Given the description of an element on the screen output the (x, y) to click on. 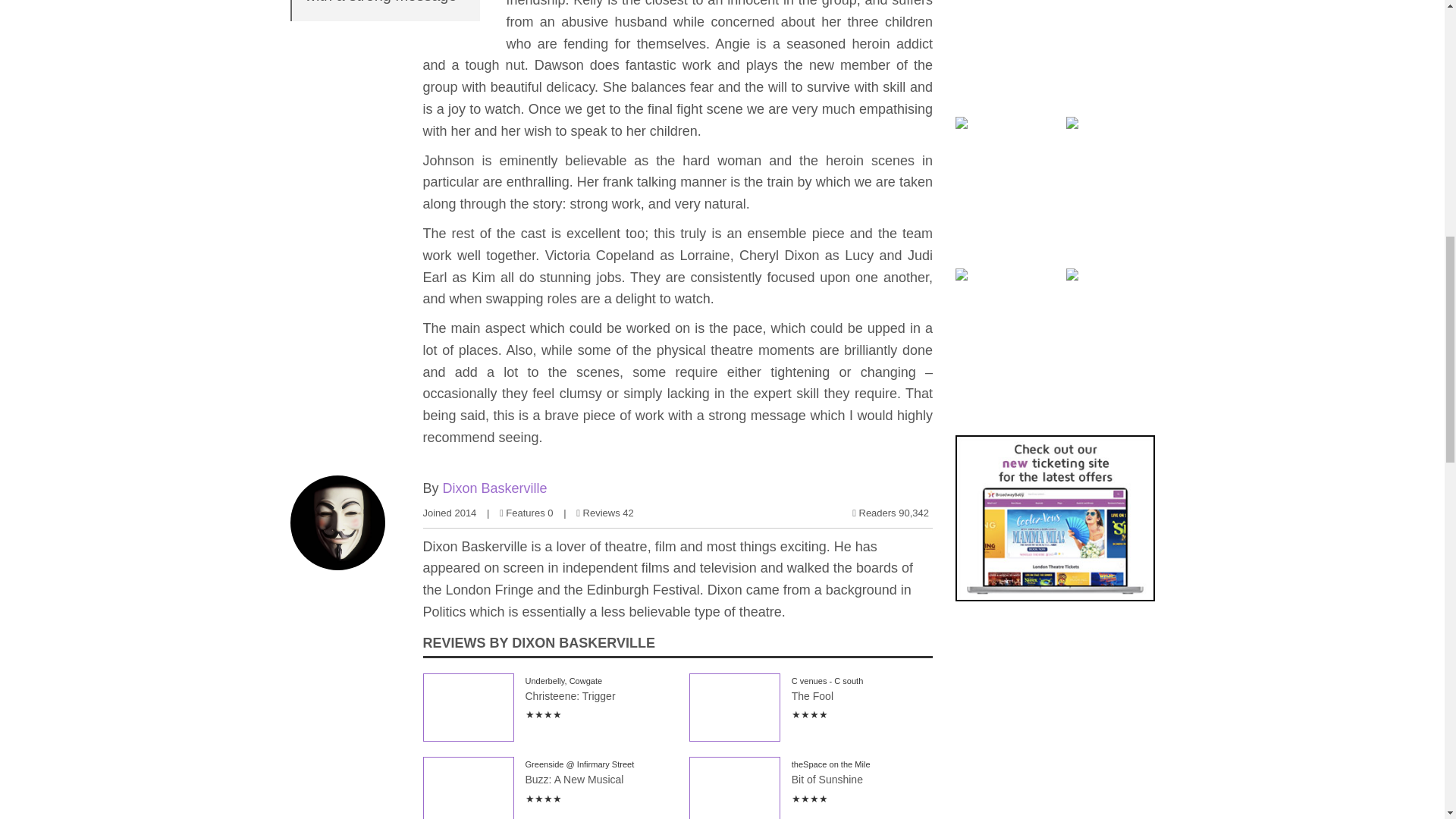
Christeene: Trigger (468, 707)
The Fool (734, 707)
Bit of Sunshine (734, 787)
Buzz: A New Musical (468, 787)
